Given the description of an element on the screen output the (x, y) to click on. 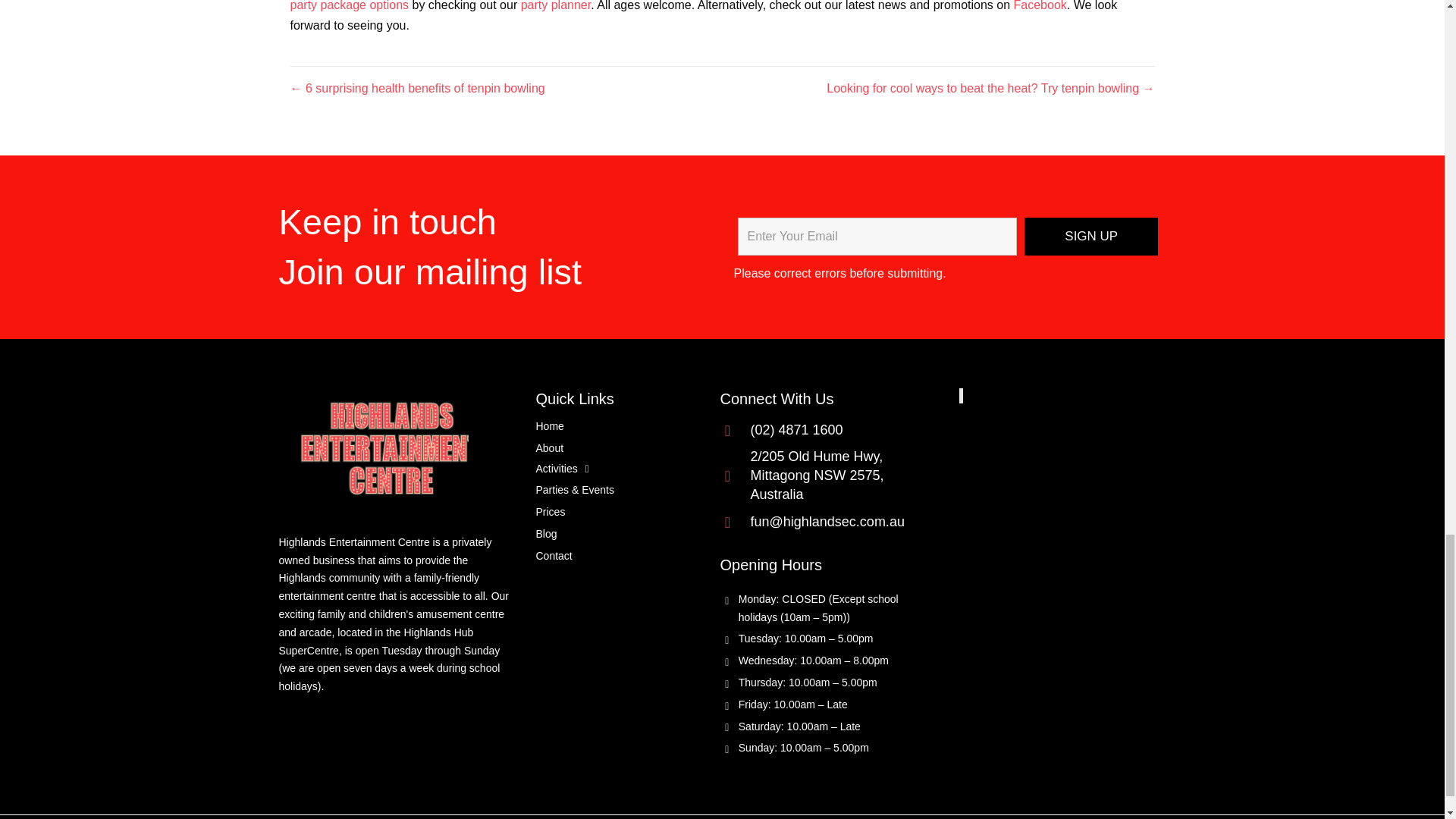
Sign Up (1091, 236)
